Given the description of an element on the screen output the (x, y) to click on. 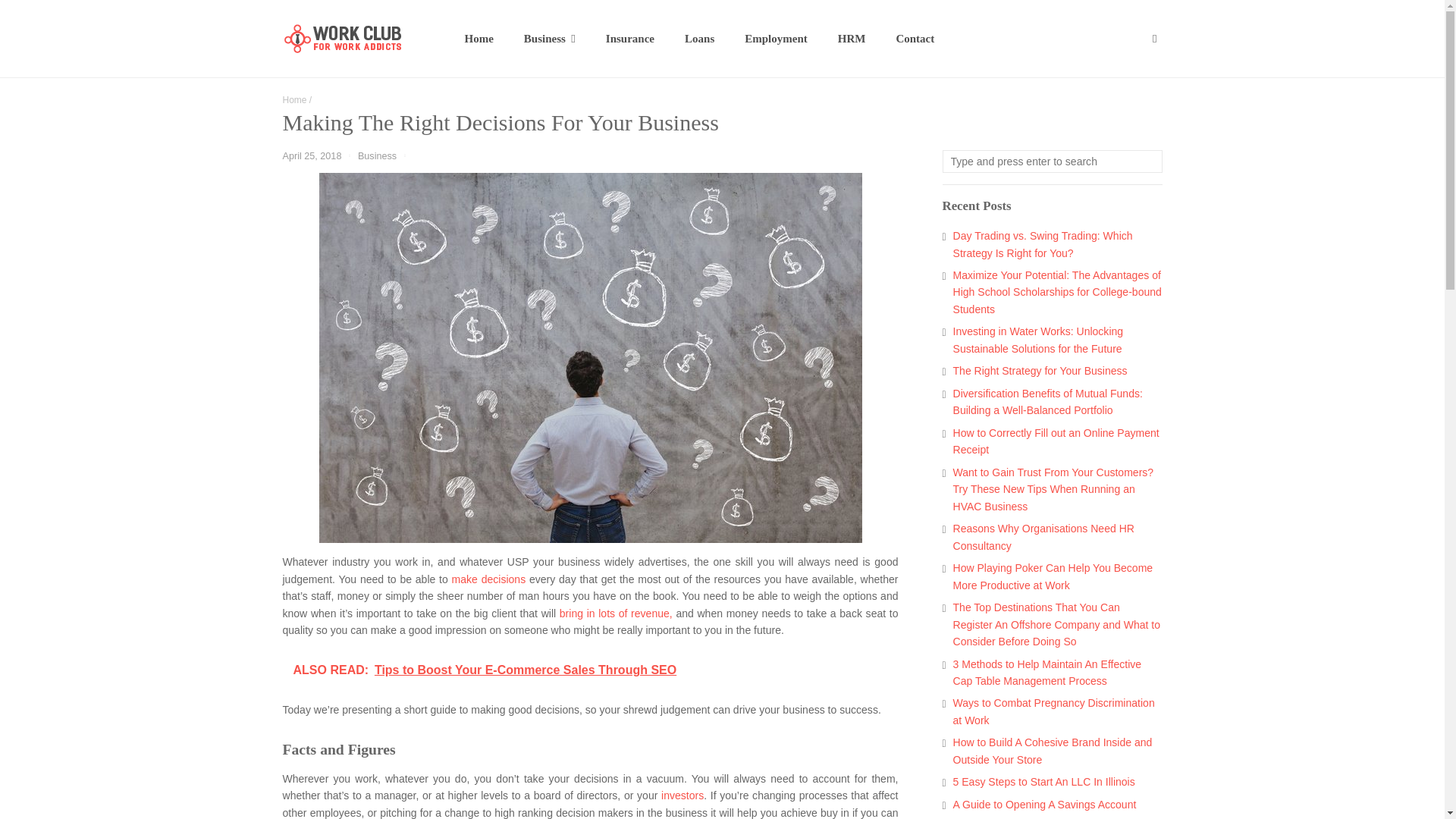
Business (377, 155)
Insurance (630, 38)
Business (549, 38)
bring in lots of revenue, (615, 613)
Employment (775, 38)
ALSO READ:  Tips to Boost Your E-Commerce Sales Through SEO (590, 670)
make decisions (488, 579)
Home (293, 100)
Contact (914, 38)
investors (682, 795)
